Given the description of an element on the screen output the (x, y) to click on. 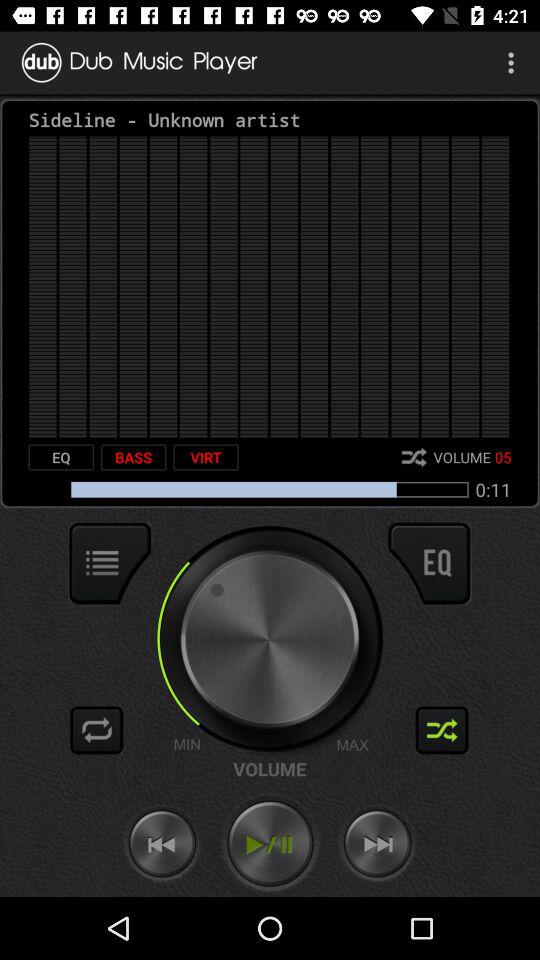
select item next to the  bass (61, 457)
